Given the description of an element on the screen output the (x, y) to click on. 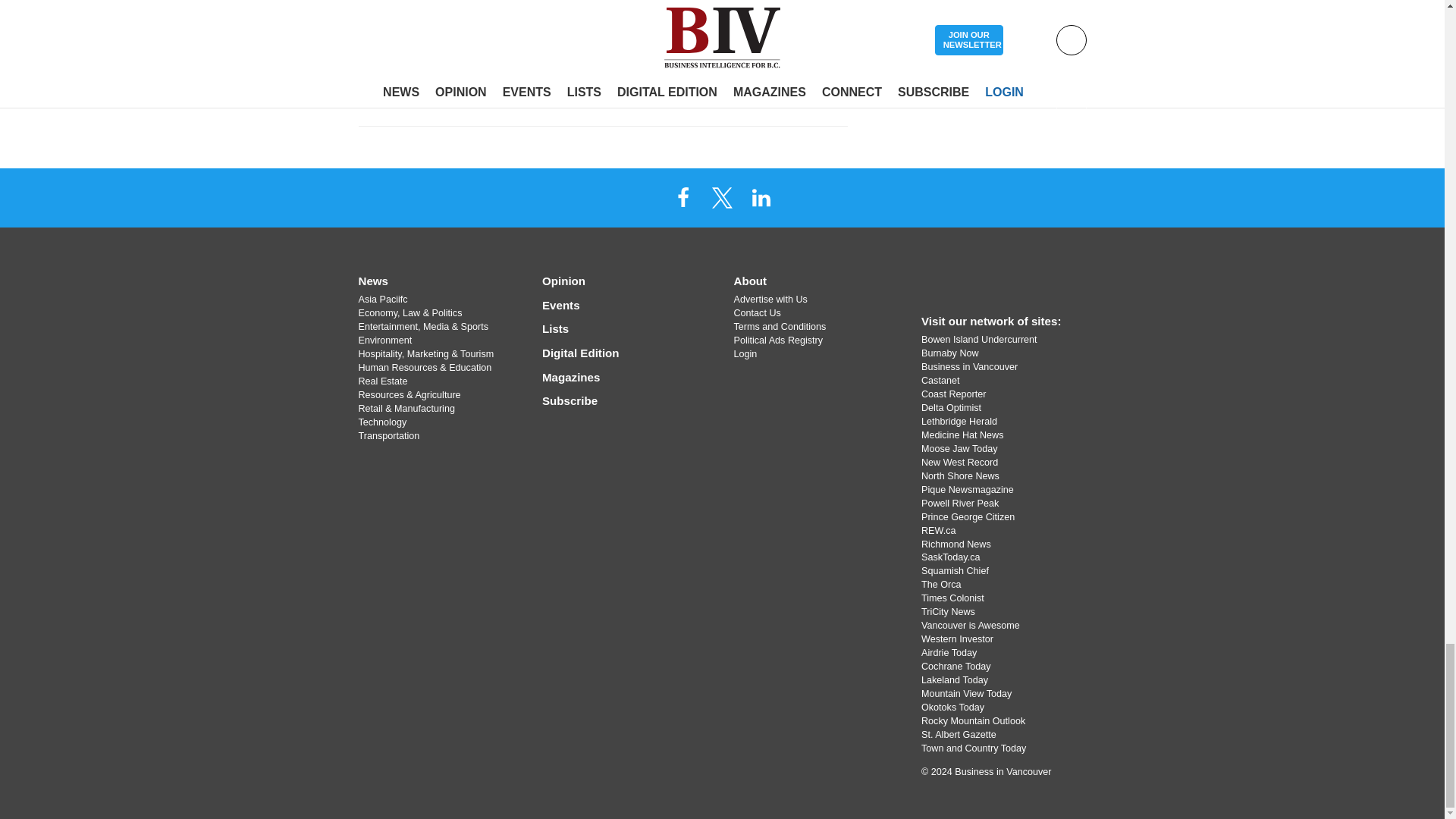
LinkedIn (760, 196)
X (721, 196)
Facebook (683, 196)
